Given the description of an element on the screen output the (x, y) to click on. 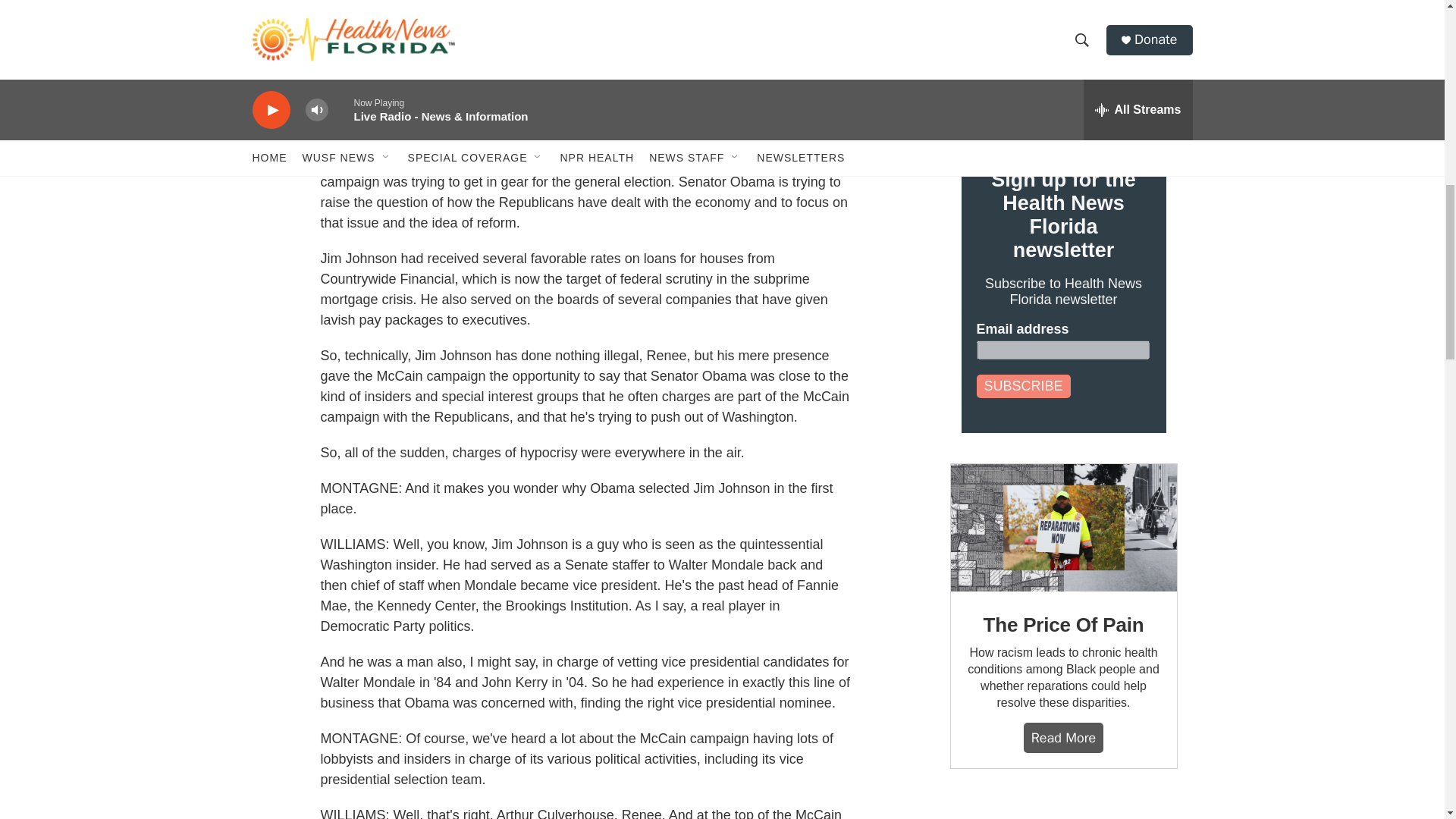
3rd party ad content (1063, 809)
